Given the description of an element on the screen output the (x, y) to click on. 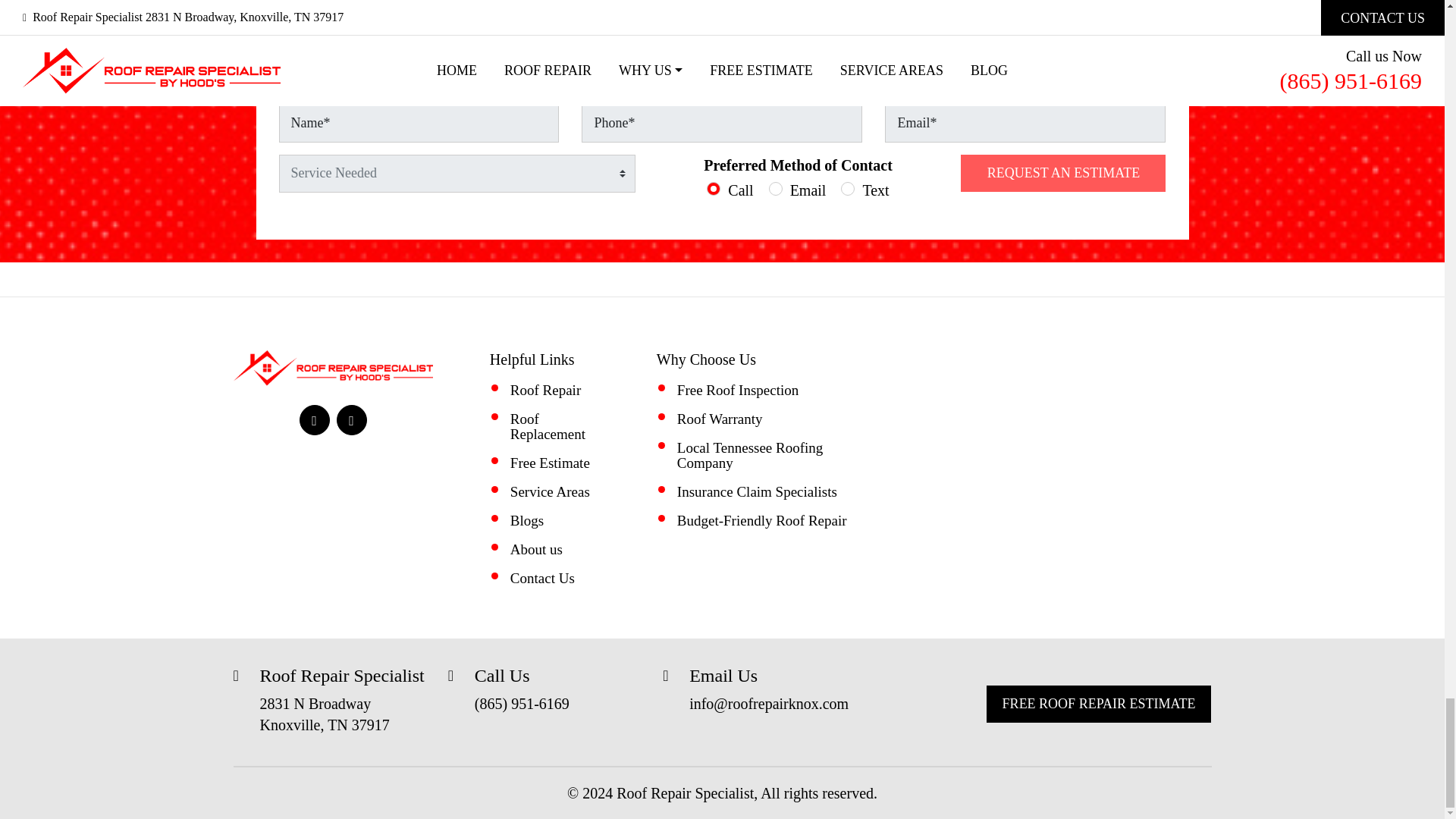
Free Estimate (550, 462)
Roof Warranty (719, 418)
Free Roof Inspection (737, 390)
Roof Replacement (548, 426)
Local Tennessee Roofing Company (750, 454)
Service Areas (550, 491)
Contact Us (543, 578)
Request an Estimate (1063, 172)
Request an Estimate (1063, 172)
Blogs (527, 520)
Insurance Claim Specialists (757, 491)
Roof Repair (545, 390)
About us (536, 549)
